Given the description of an element on the screen output the (x, y) to click on. 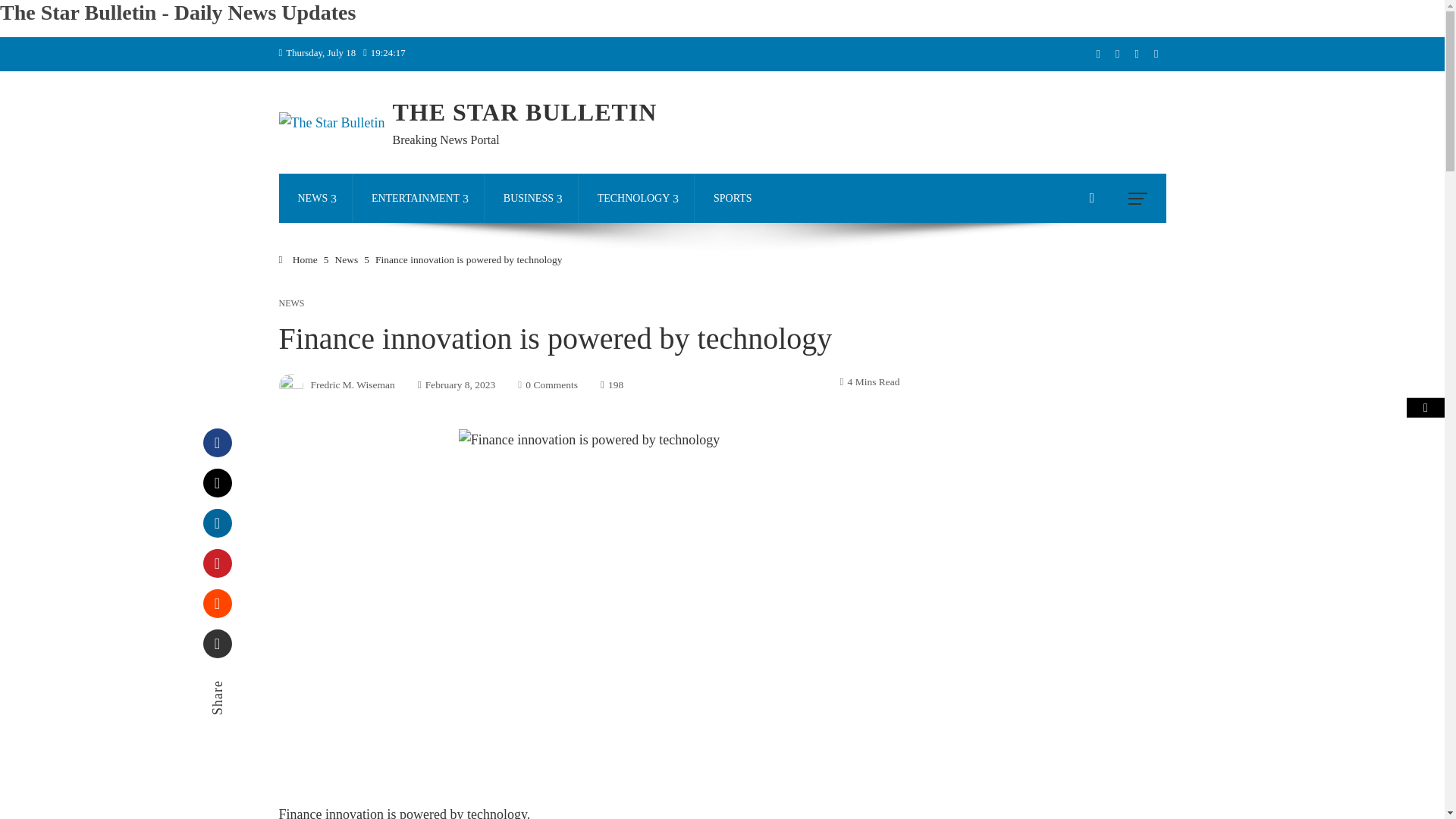
ENTERTAINMENT (418, 197)
Finance innovation is powered by technology (588, 440)
Breaking News Portal (445, 139)
NEWS (315, 197)
TECHNOLOGY (636, 197)
SPORTS (731, 197)
THE STAR BULLETIN (523, 112)
BUSINESS (531, 197)
